Given the description of an element on the screen output the (x, y) to click on. 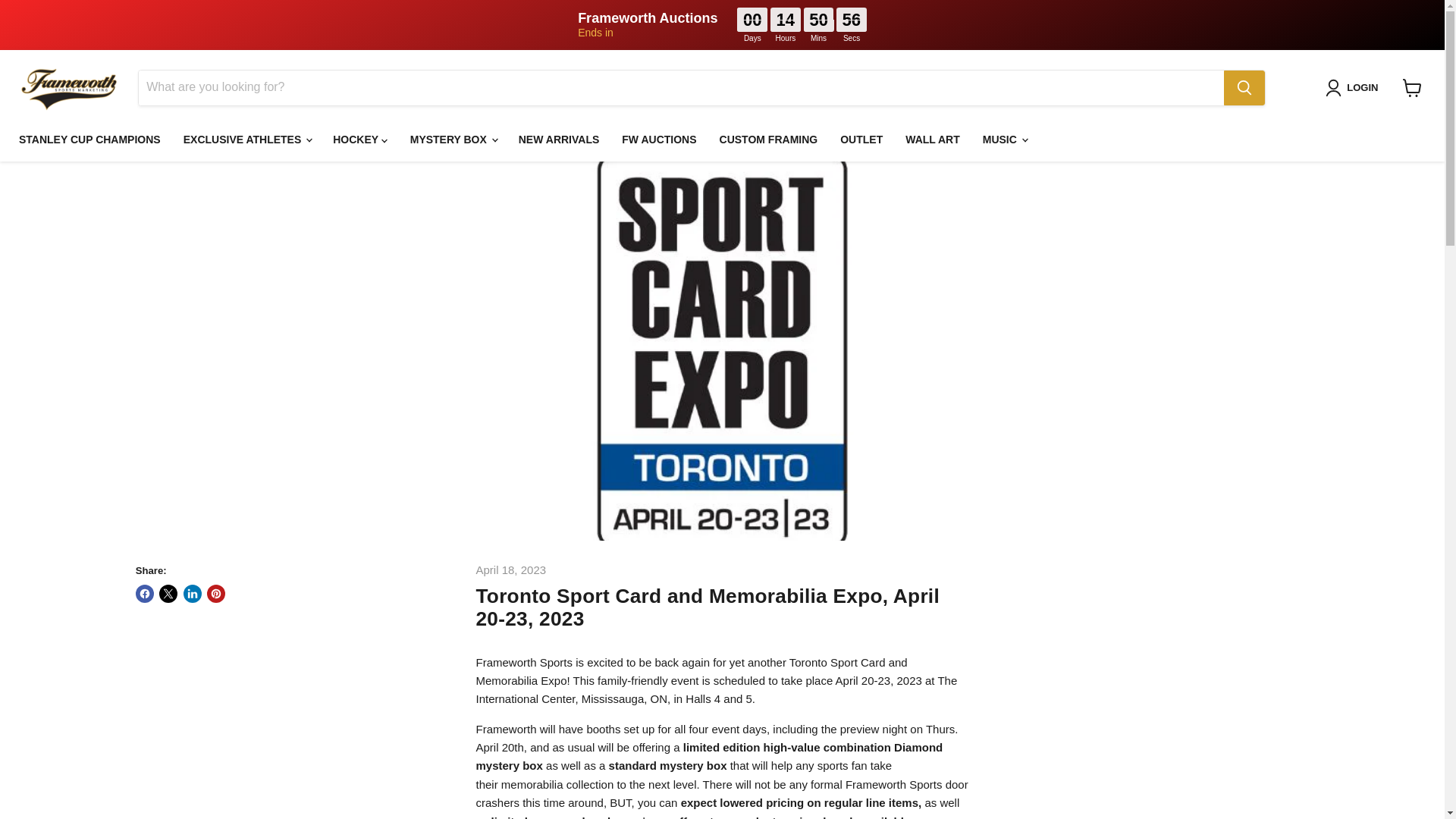
LOGIN (1354, 87)
View cart (1411, 87)
STANLEY CUP CHAMPIONS (89, 139)
